Given the description of an element on the screen output the (x, y) to click on. 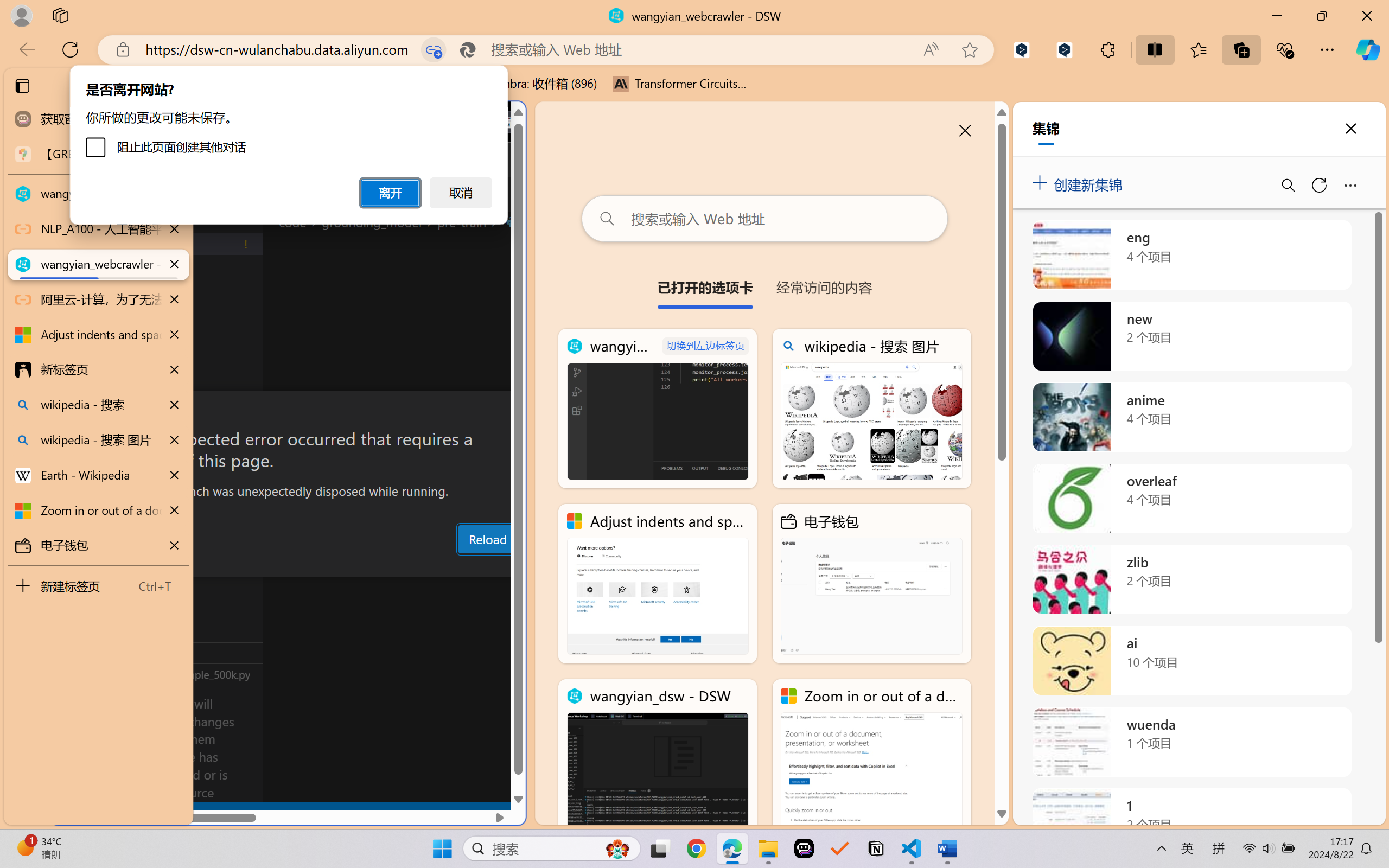
Adjust indents and spacing - Microsoft Support (97, 334)
Class: actions-container (287, 410)
Copilot (Ctrl+Shift+.) (1368, 49)
Manage (73, 755)
